Given the description of an element on the screen output the (x, y) to click on. 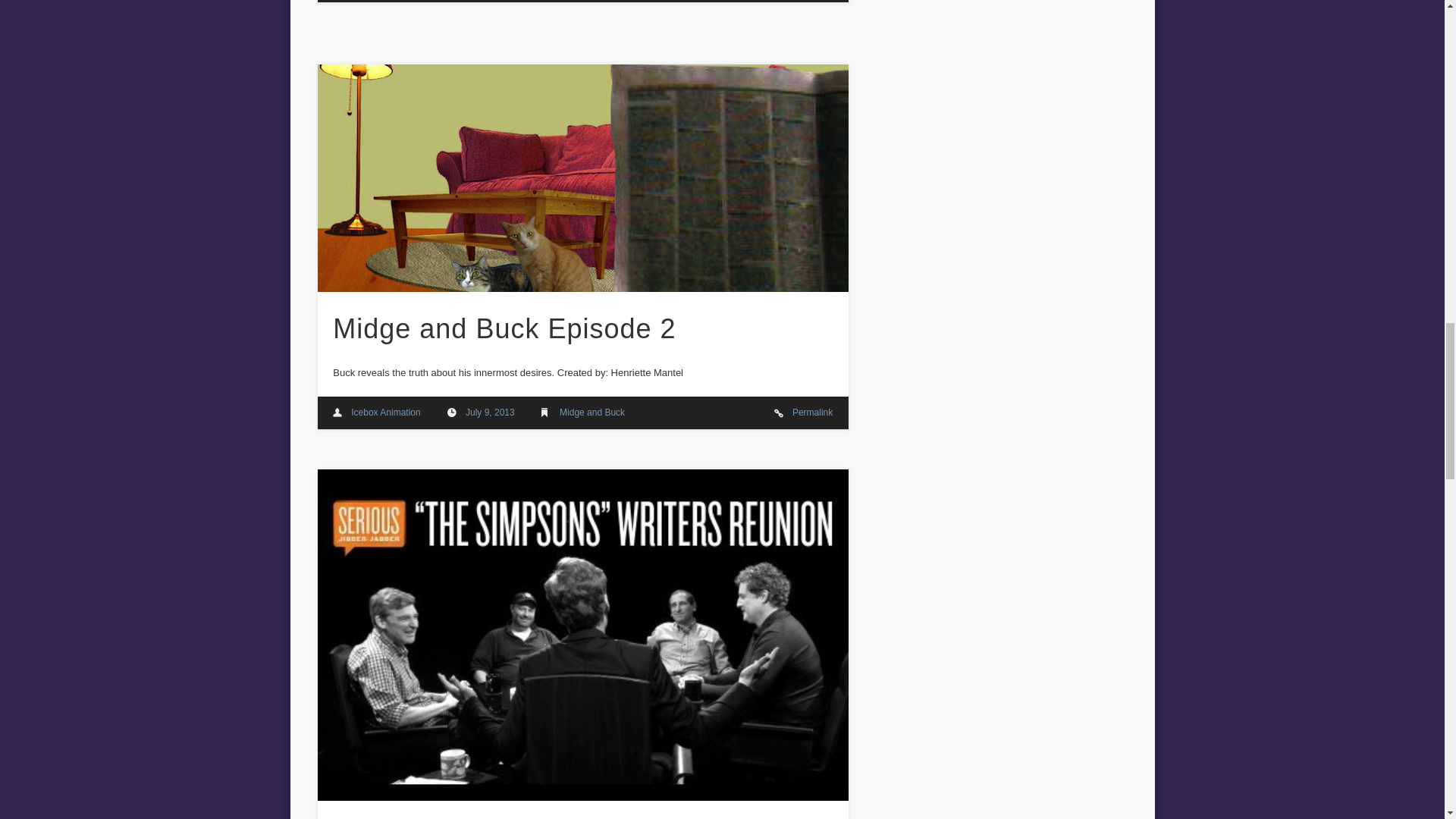
Midge and Buck Episode 2 (582, 177)
Permalink (812, 412)
Icebox Animation (385, 412)
Midge and Buck Episode 2 (504, 327)
July 9, 2013 (490, 412)
Midge and Buck (591, 412)
Midge and Buck Episode 2 (504, 327)
